Given the description of an element on the screen output the (x, y) to click on. 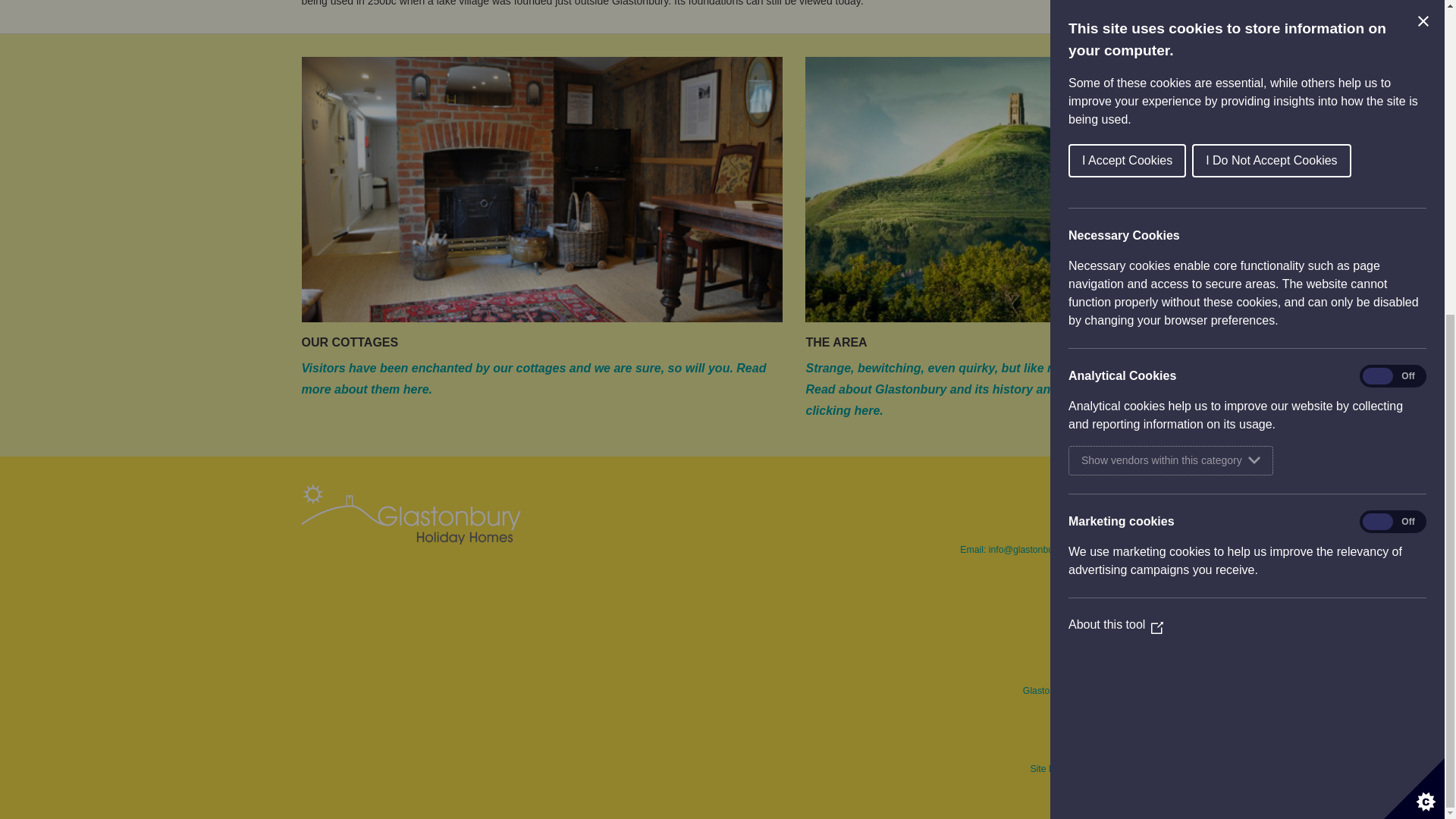
Tickbox Marketing (1100, 768)
01458 835144 (1108, 526)
